Given the description of an element on the screen output the (x, y) to click on. 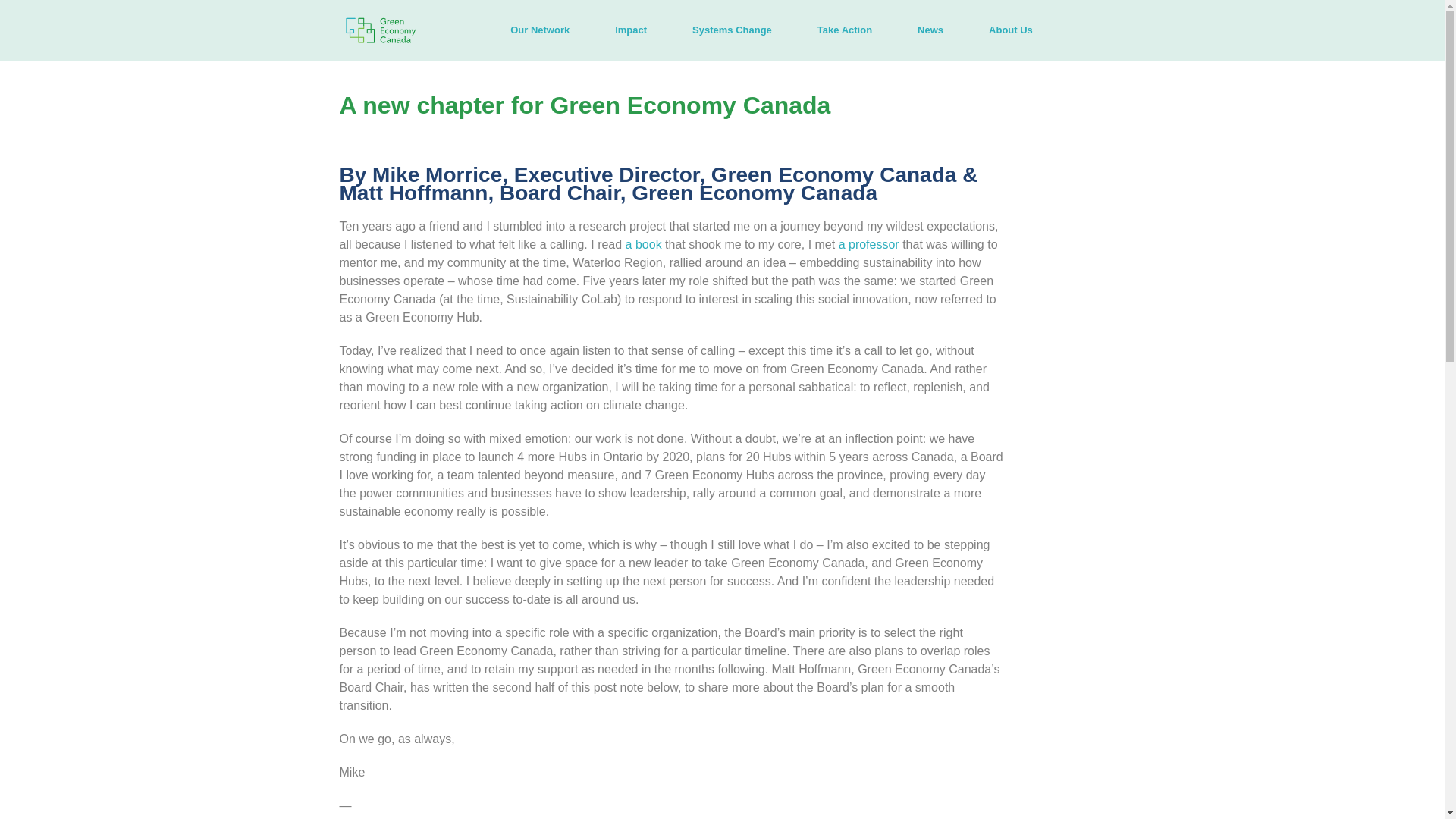
About Us (1011, 30)
Take Action (844, 30)
Impact (630, 30)
Our Network (540, 30)
News (930, 30)
Systems Change (732, 30)
